Given the description of an element on the screen output the (x, y) to click on. 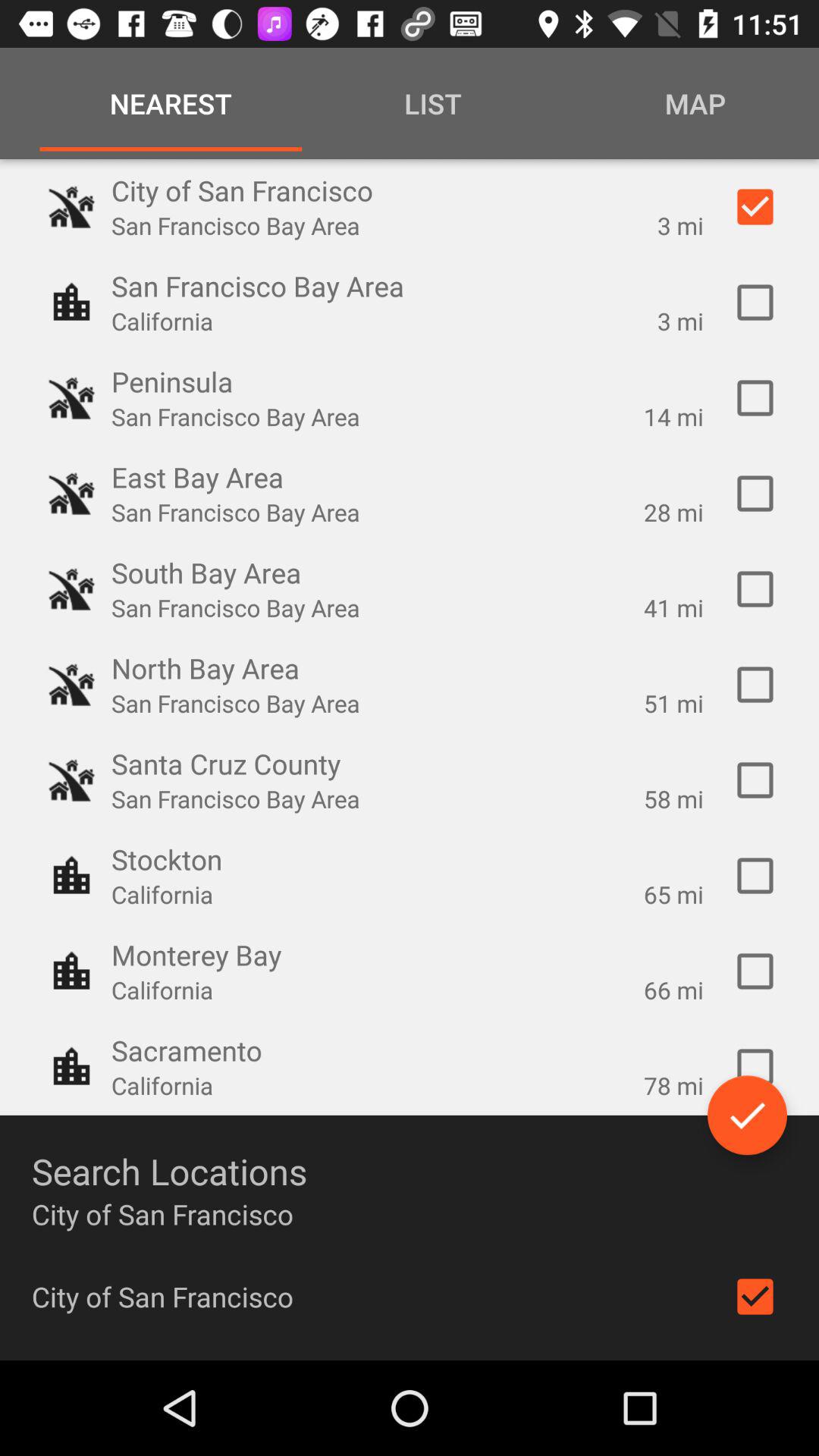
check all (747, 1115)
